Given the description of an element on the screen output the (x, y) to click on. 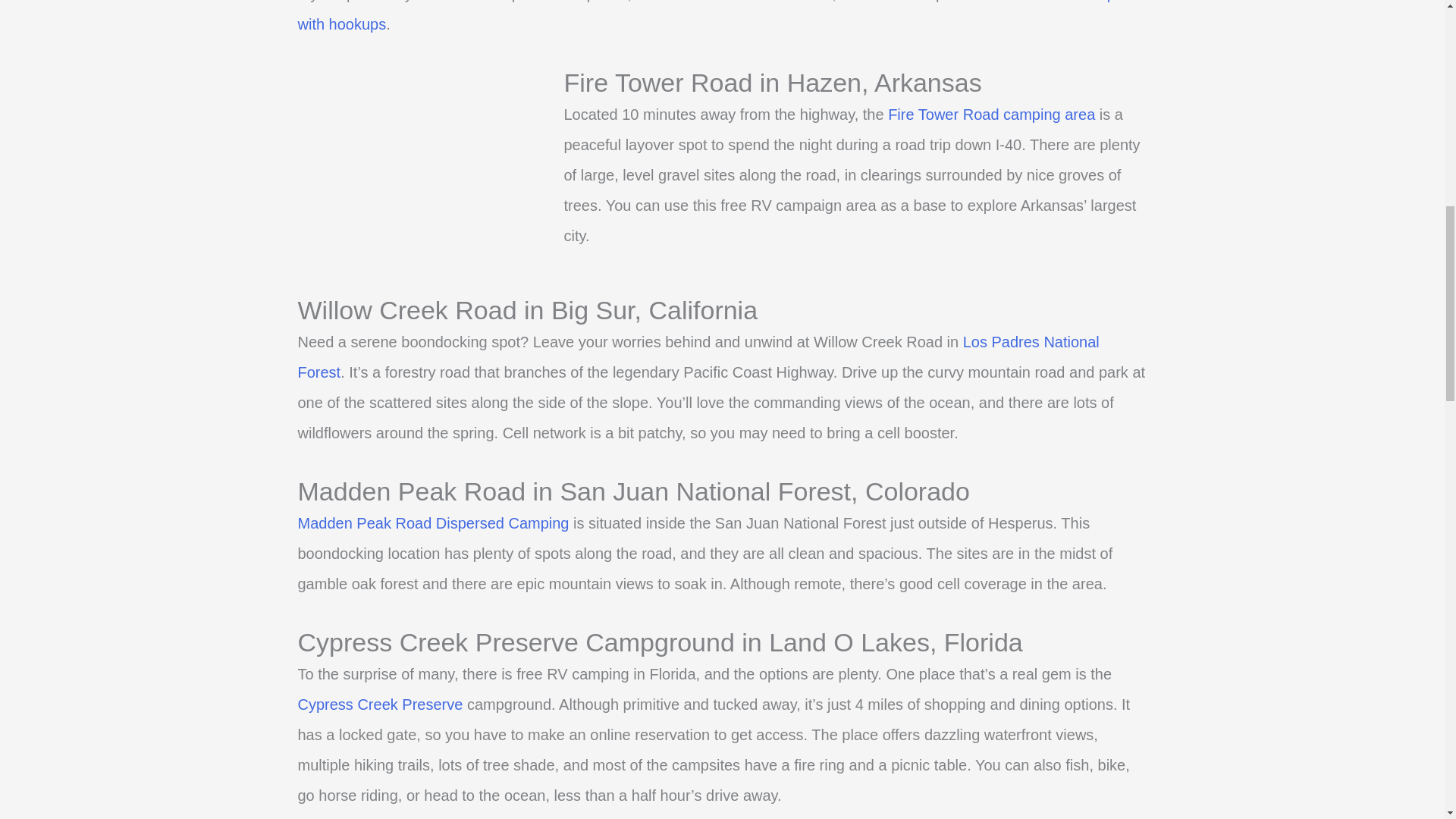
Cypress Creek Preserve (380, 704)
Los Padres National Forest (698, 356)
Fire Tower Road camping area (991, 114)
best free campsites with hookups (721, 16)
Madden Peak Road Dispersed Camping (433, 523)
